Given the description of an element on the screen output the (x, y) to click on. 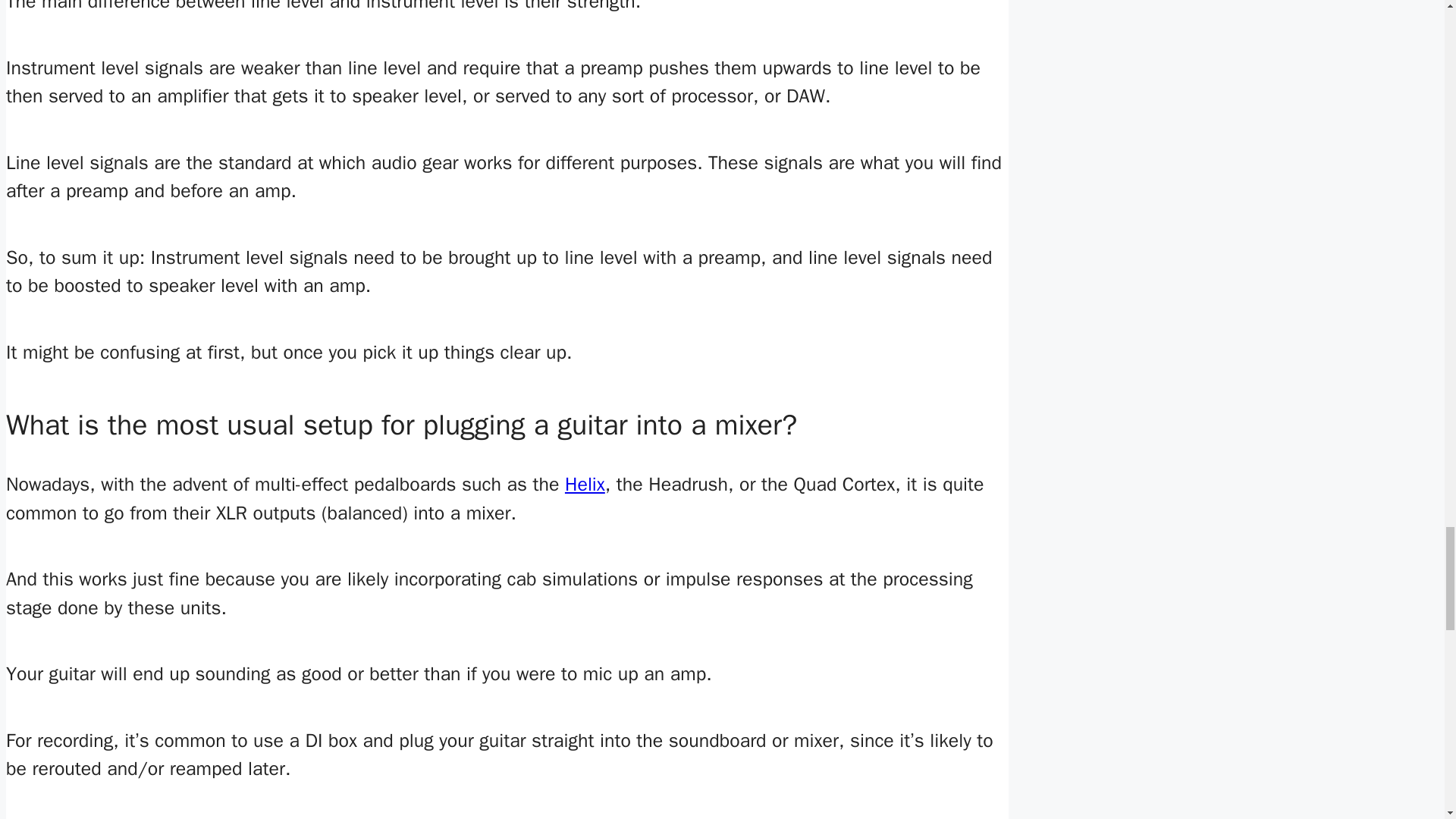
Helix (584, 484)
